Given the description of an element on the screen output the (x, y) to click on. 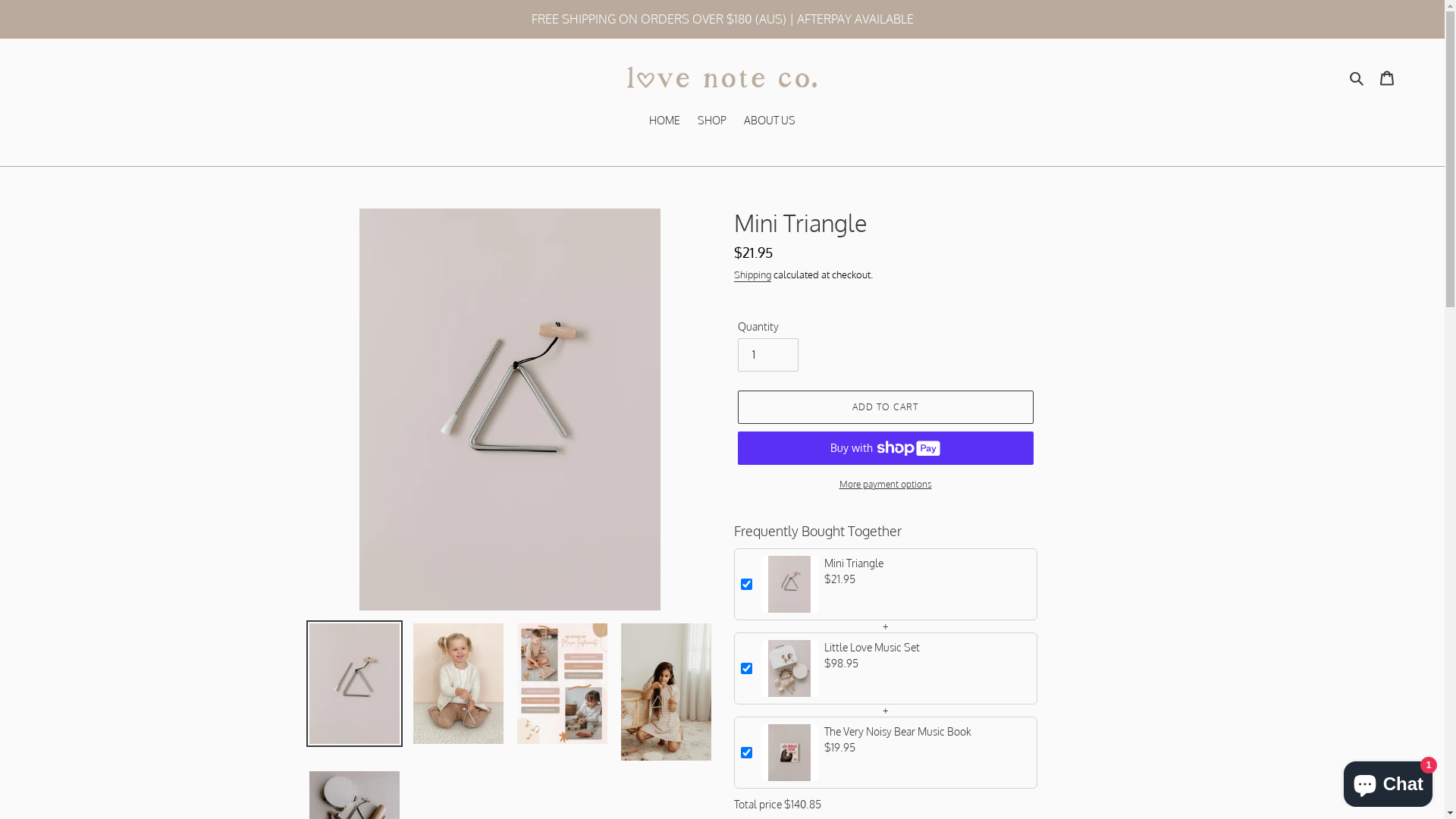
ABOUT US Element type: text (769, 121)
ADD TO CART Element type: text (884, 406)
More payment options Element type: text (884, 484)
HOME Element type: text (664, 121)
Shopify online store chat Element type: hover (1388, 780)
SHOP Element type: text (712, 121)
Shipping Element type: text (752, 275)
Search Element type: text (1357, 77)
Cart Element type: text (1386, 77)
